Given the description of an element on the screen output the (x, y) to click on. 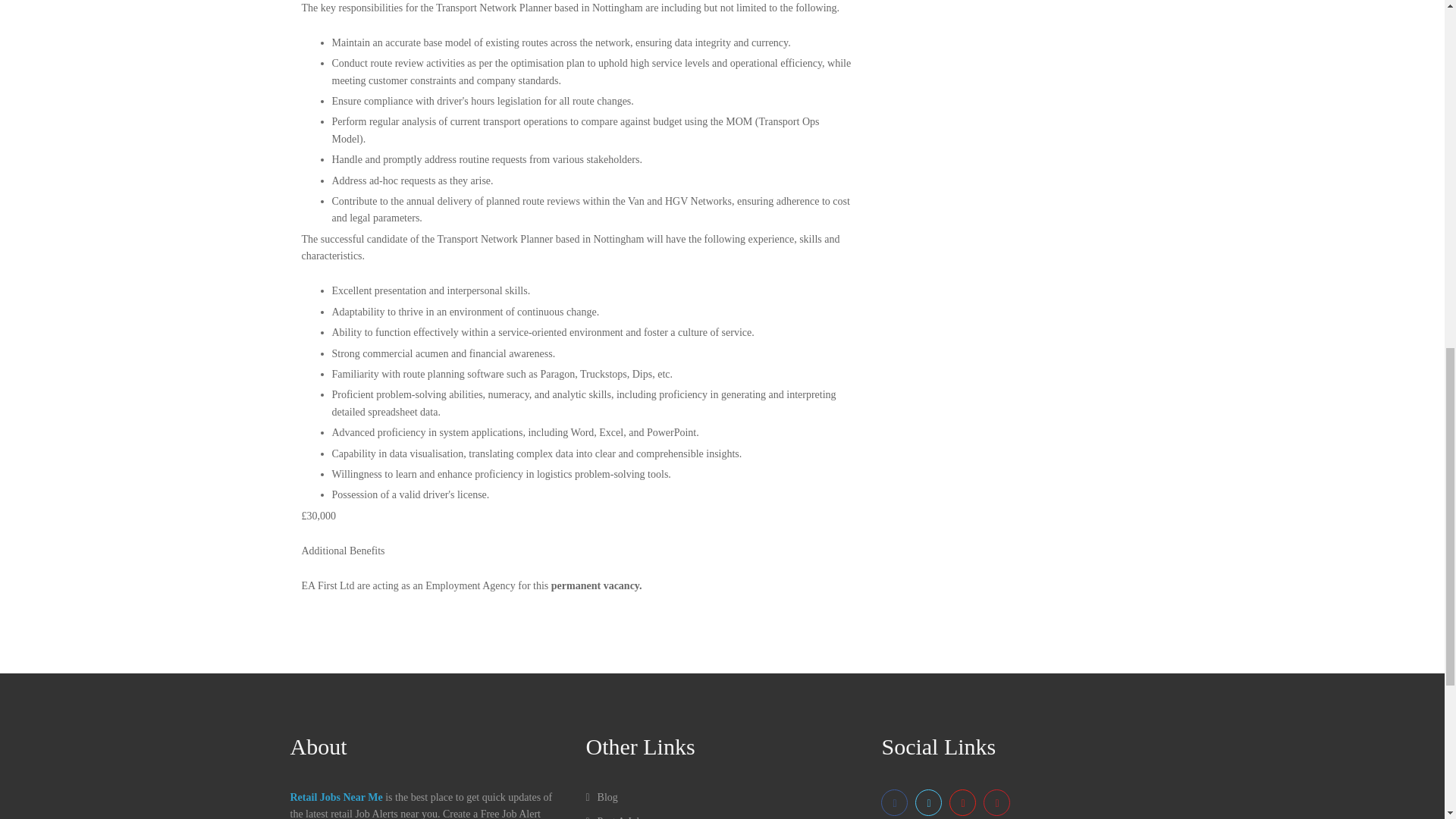
Blog (601, 797)
Post A Job (613, 817)
Retail Jobs Near Me (335, 797)
